Given the description of an element on the screen output the (x, y) to click on. 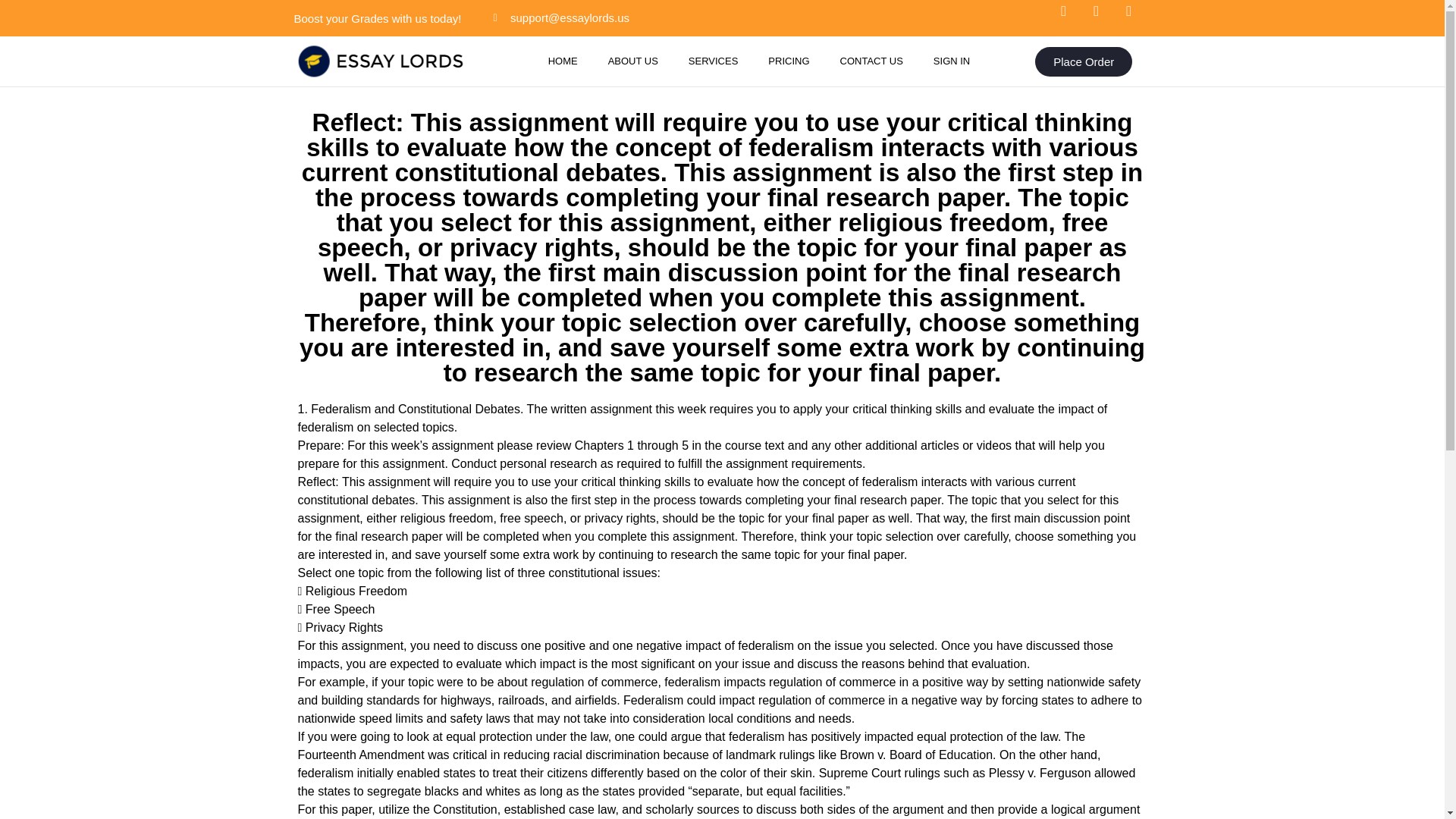
HOME (562, 61)
PRICING (788, 61)
CONTACT US (871, 61)
SIGN IN (951, 61)
ABOUT US (632, 61)
Place Order (1083, 61)
SERVICES (713, 61)
